Given the description of an element on the screen output the (x, y) to click on. 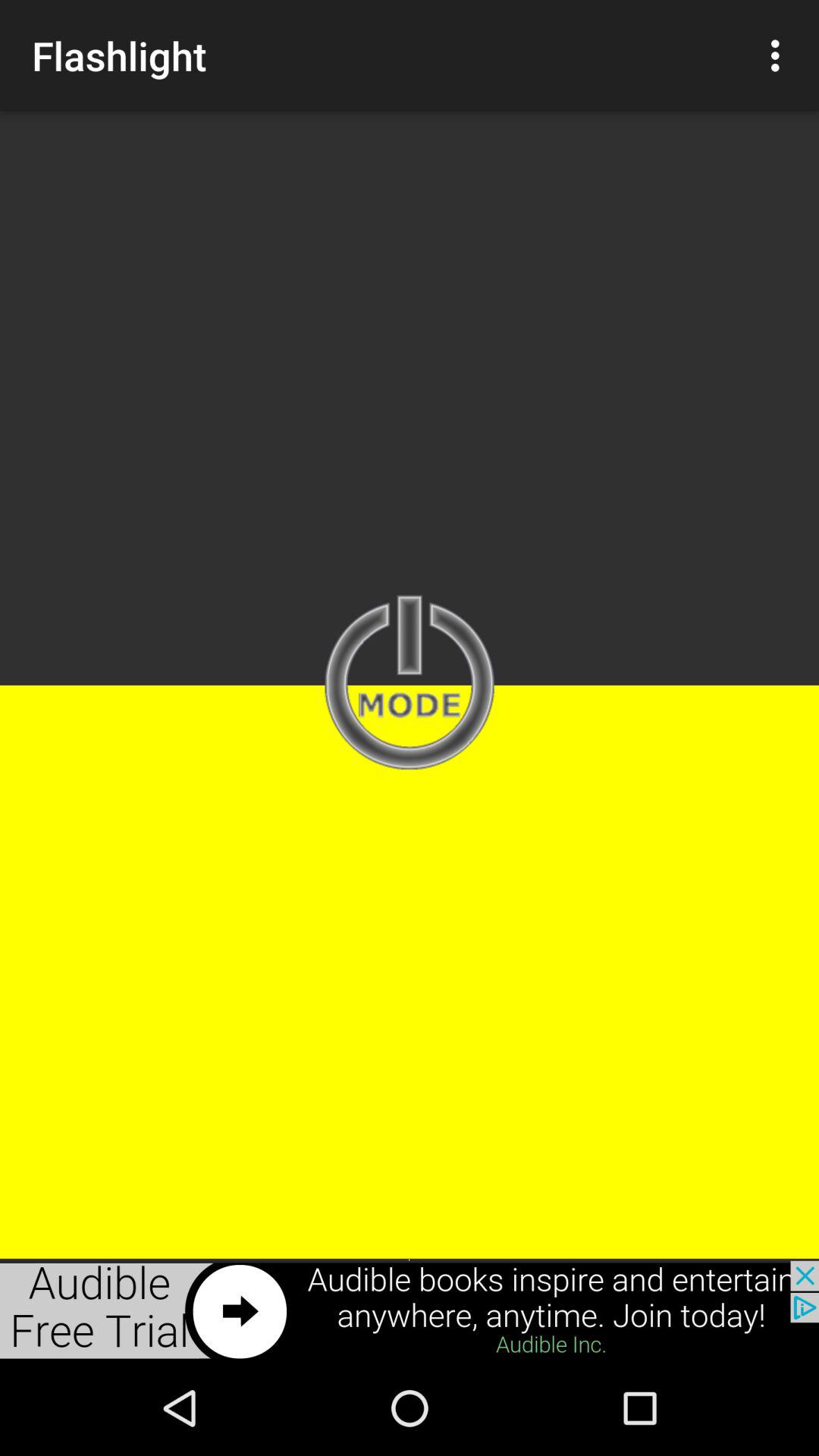
right arrow button (409, 1310)
